Given the description of an element on the screen output the (x, y) to click on. 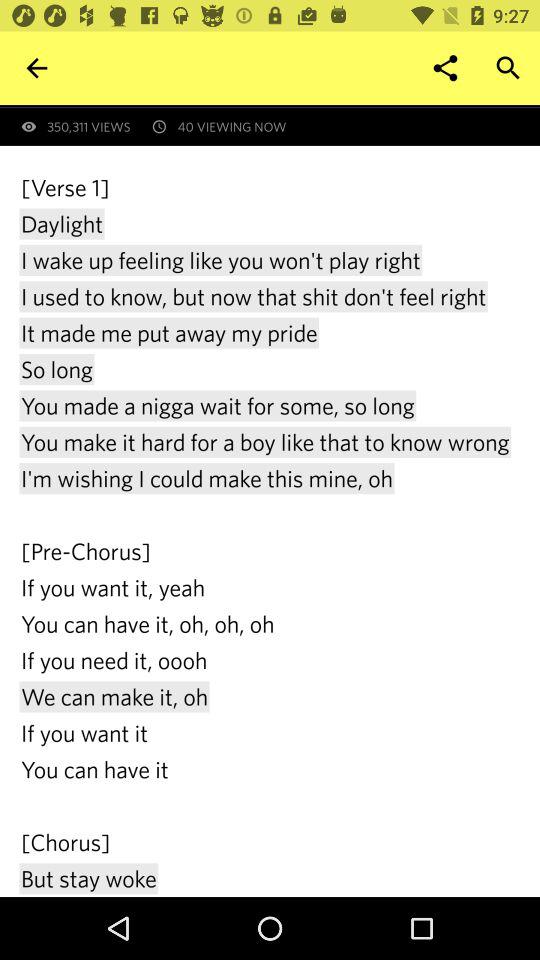
jump to the first revealed at (280, 106)
